Given the description of an element on the screen output the (x, y) to click on. 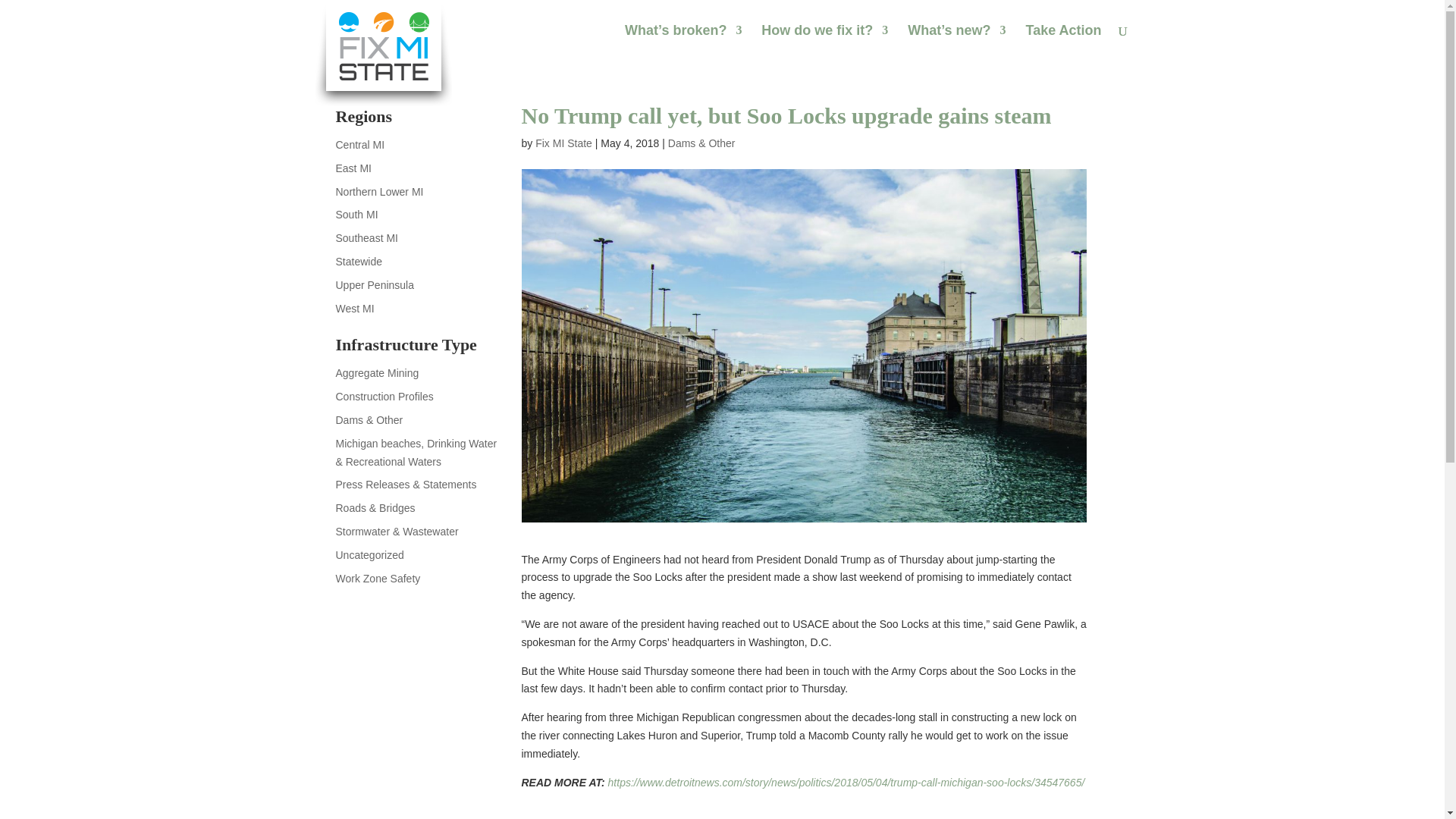
Central MI (359, 144)
Aggregate Mining (376, 372)
View all posts in East MI (352, 168)
Construction Profiles (383, 396)
How do we fix it? (824, 42)
View all posts in Aggregate Mining (376, 372)
View all posts in Upper Peninsula (373, 285)
View all posts in Central MI (359, 144)
Statewide (357, 261)
View all posts in Statewide (357, 261)
